Given the description of an element on the screen output the (x, y) to click on. 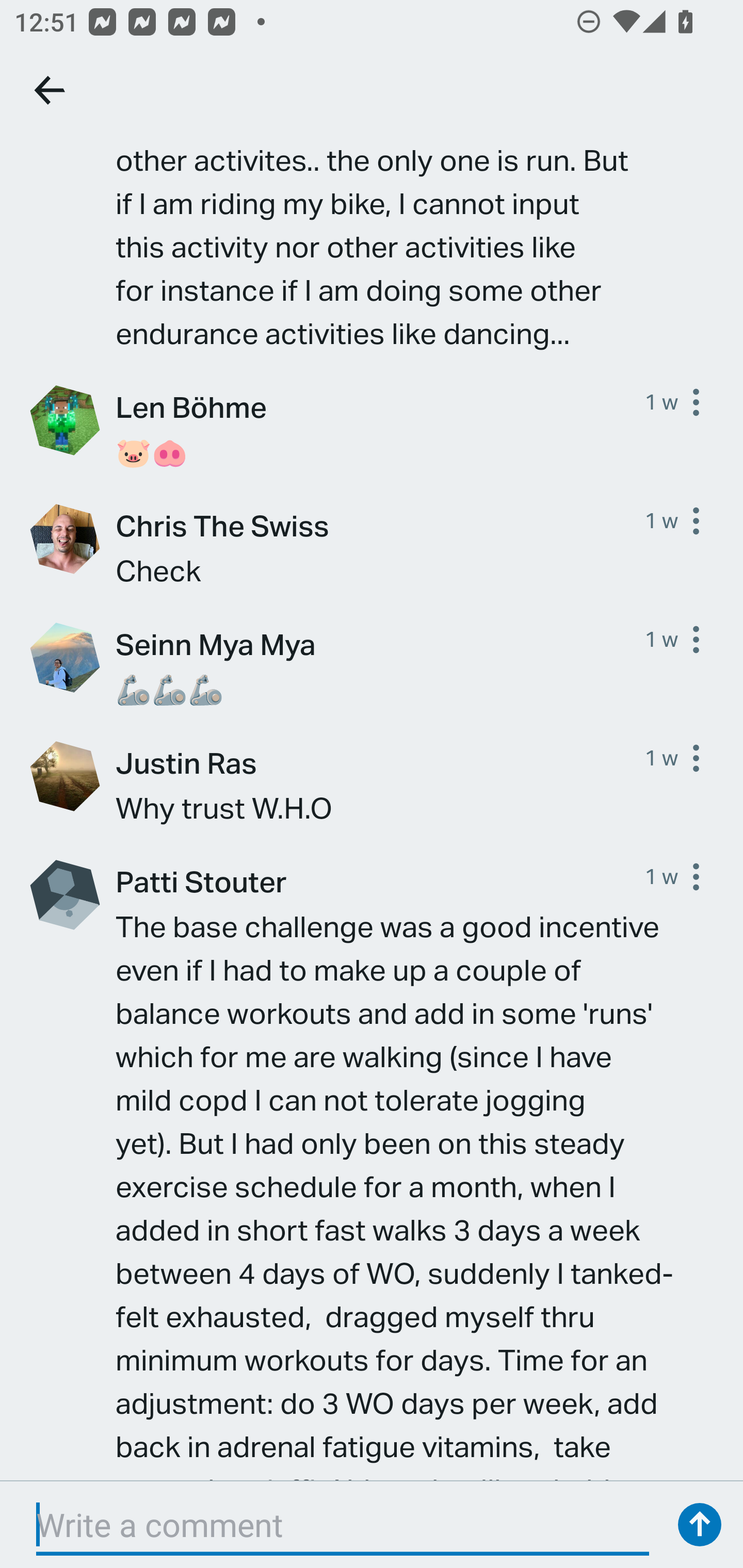
Go back (50, 90)
Len Böhme (379, 406)
Chris The Swiss (379, 525)
Seinn Mya Mya (379, 643)
Justin Ras (379, 762)
Patti Stouter (379, 881)
Write a comment (342, 1524)
Send (699, 1524)
